Given the description of an element on the screen output the (x, y) to click on. 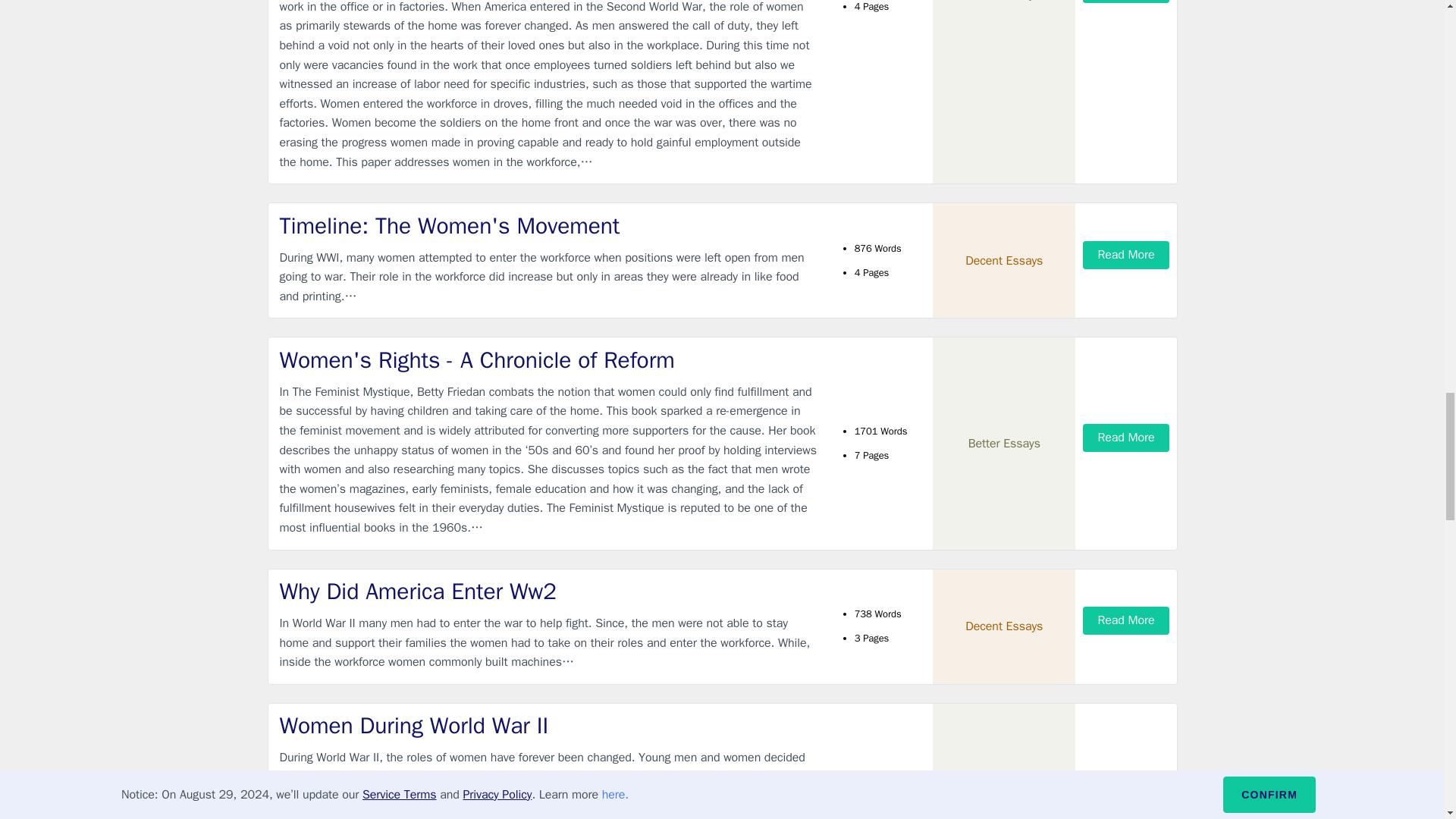
Women's Rights - A Chronicle of Reform (548, 359)
Timeline: The Women's Movement (548, 225)
Read More (1126, 438)
Read More (1126, 254)
Read More (1126, 1)
